Given the description of an element on the screen output the (x, y) to click on. 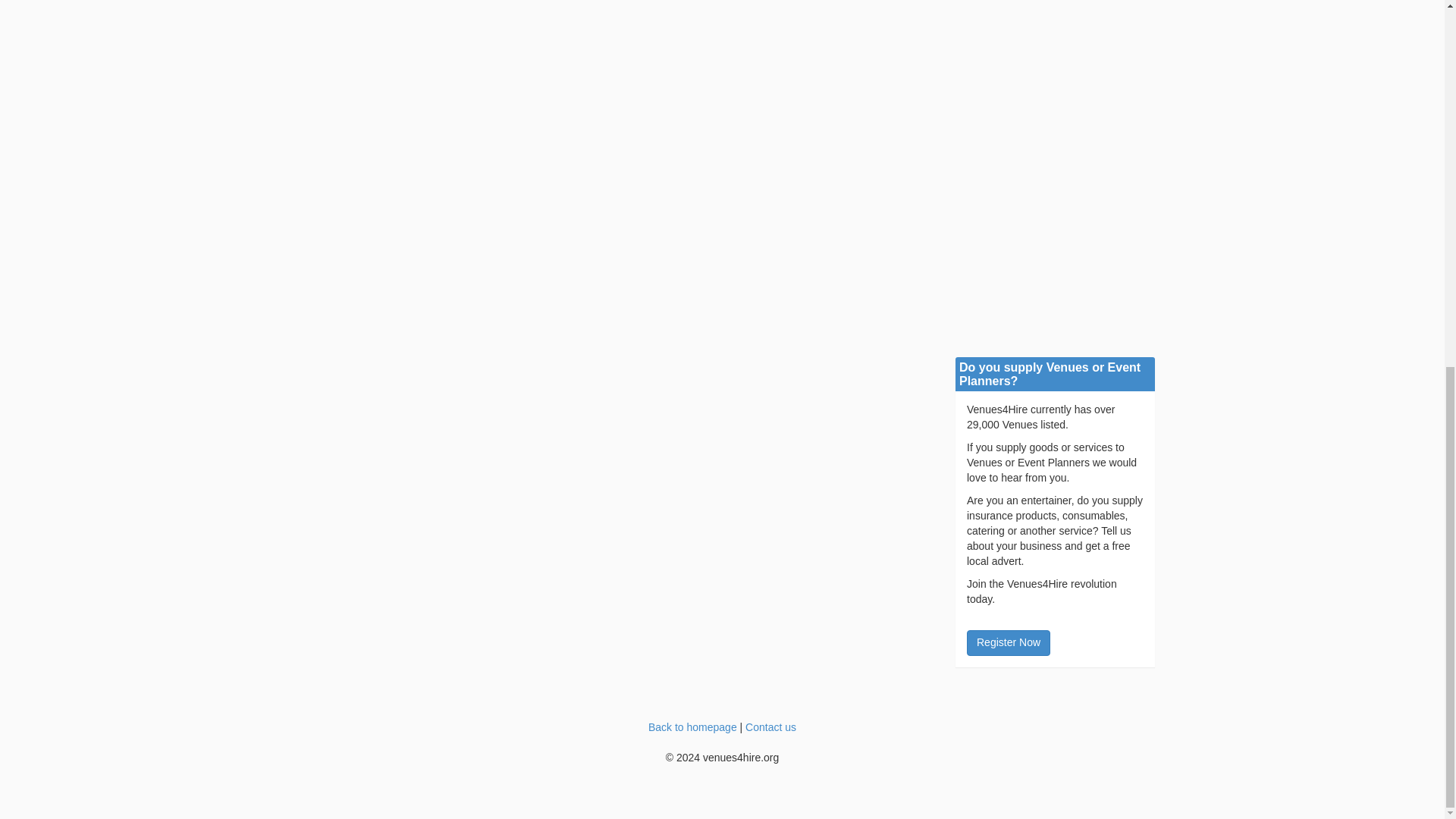
Contact us (770, 727)
Back to homepage (691, 727)
Advertisement (610, 71)
Register Now (1007, 642)
